Given the description of an element on the screen output the (x, y) to click on. 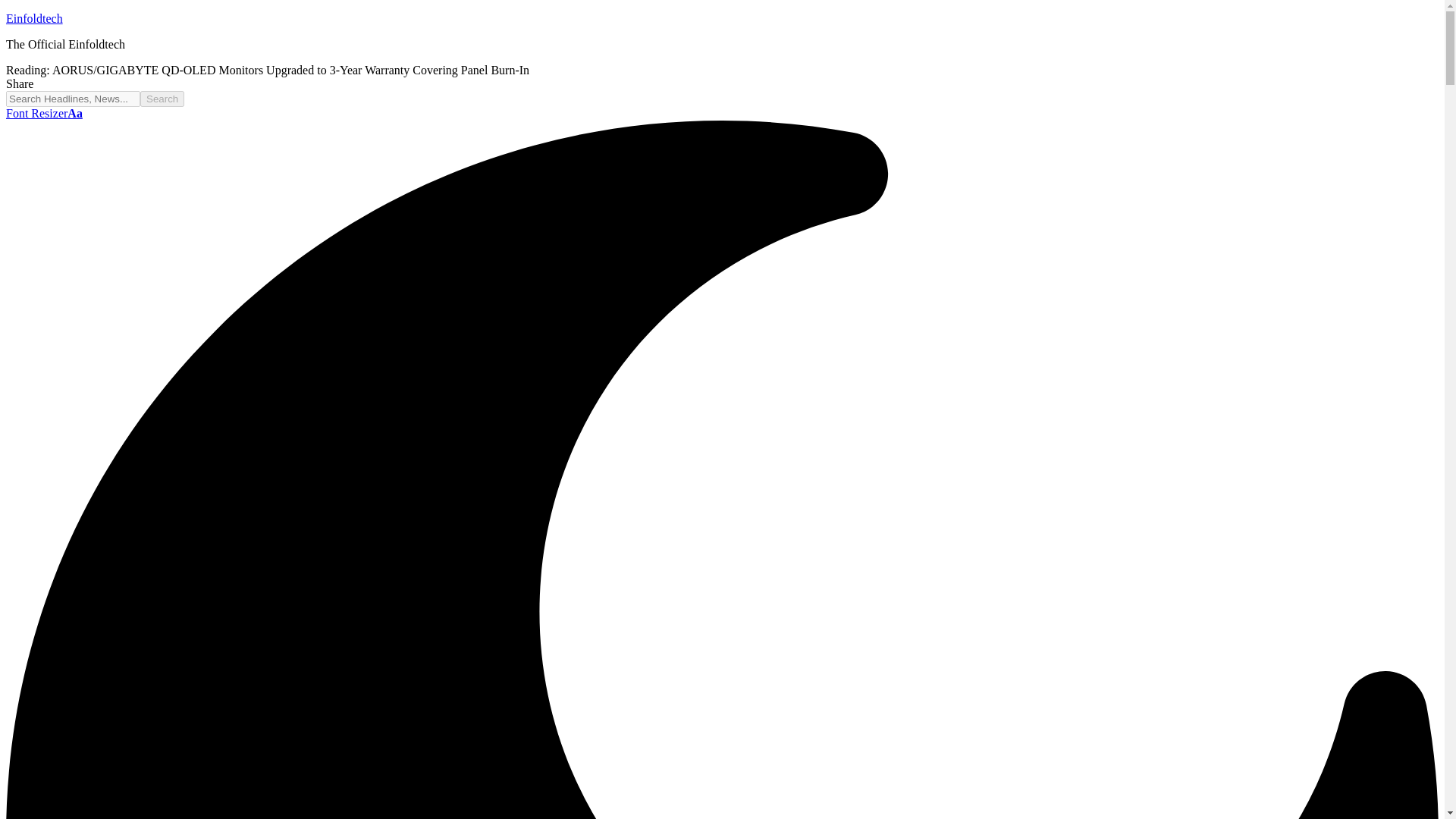
Einfoldtech (33, 18)
Search (161, 98)
Search (161, 98)
Einfoldtech (33, 18)
Font ResizerAa (43, 113)
